Given the description of an element on the screen output the (x, y) to click on. 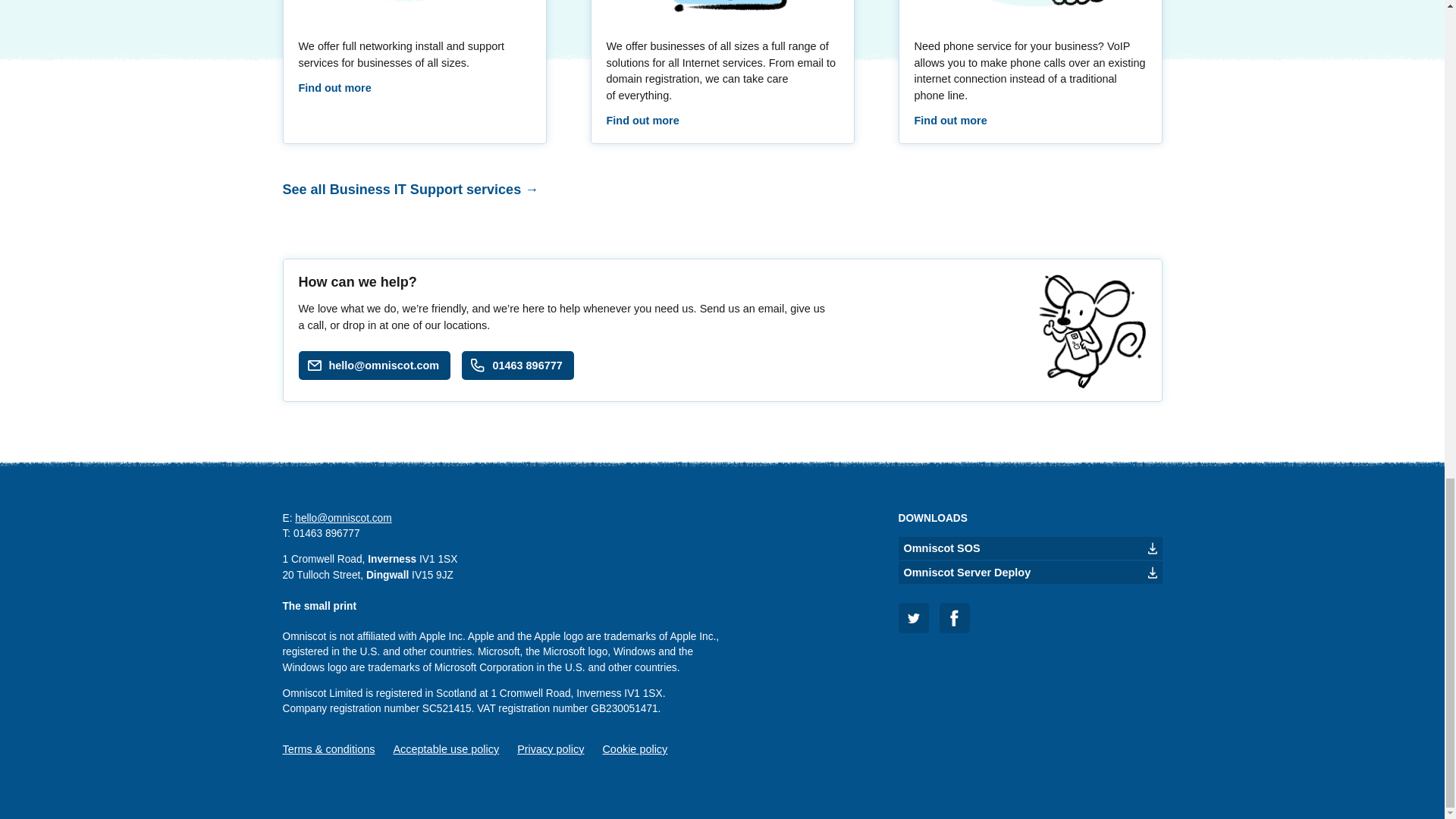
Facebook (954, 617)
Omniscot Server Deploy (1029, 572)
Twitter (913, 617)
Find out more (334, 87)
Cookie policy (634, 748)
Find out more (950, 120)
01463 896777 (517, 365)
Acceptable use policy (446, 748)
Privacy policy (549, 748)
Find out more (643, 120)
Omniscot SOS (1029, 548)
